Given the description of an element on the screen output the (x, y) to click on. 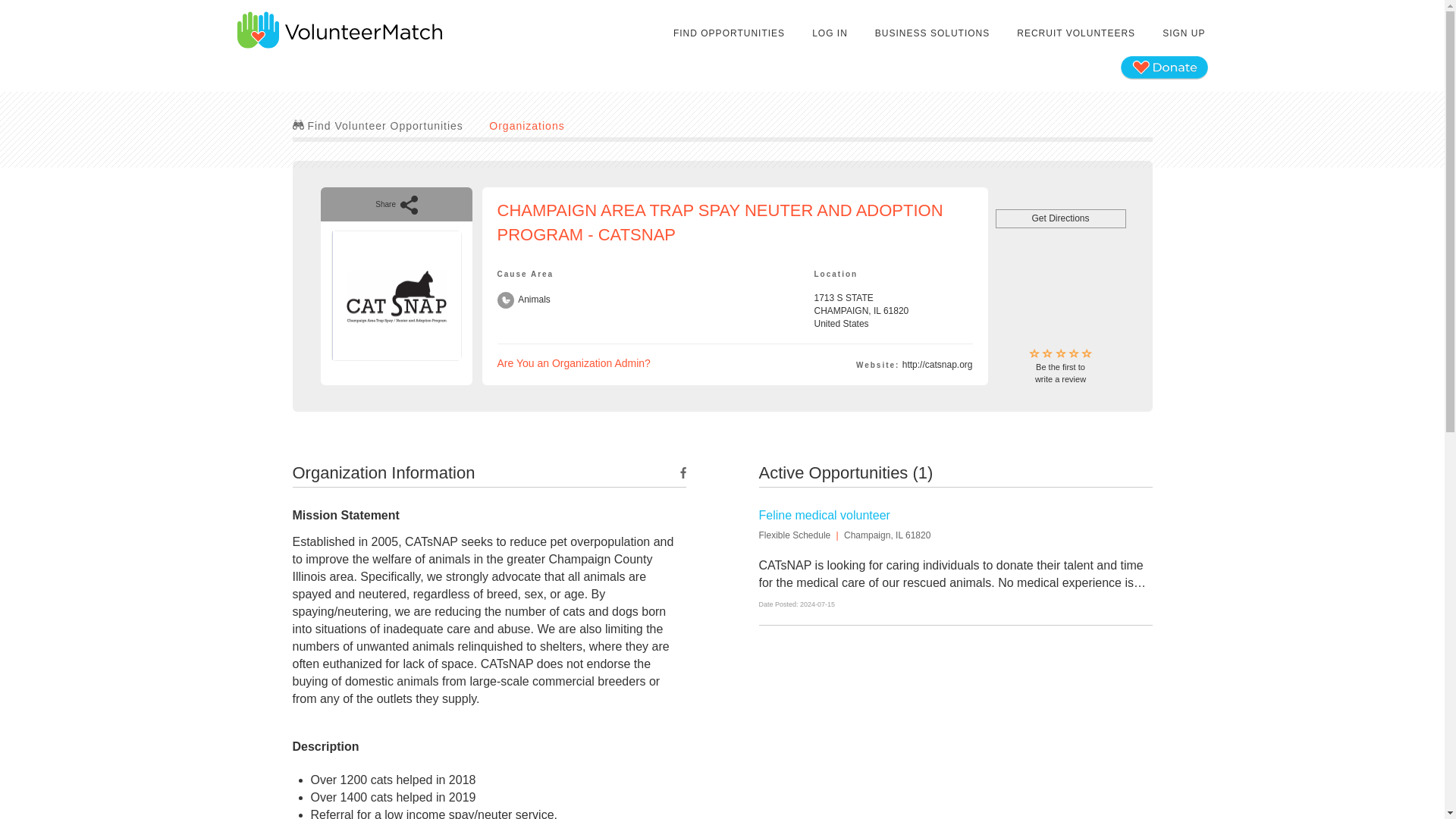
Organizations (526, 125)
LOG IN (829, 32)
SIGN UP (1183, 32)
Feline medical volunteer (823, 514)
FIND OPPORTUNITIES (1059, 367)
RECRUIT VOLUNTEERS (729, 32)
Get Directions (1075, 32)
Find Volunteer Opportunities (1059, 218)
BUSINESS SOLUTIONS (377, 125)
